Given the description of an element on the screen output the (x, y) to click on. 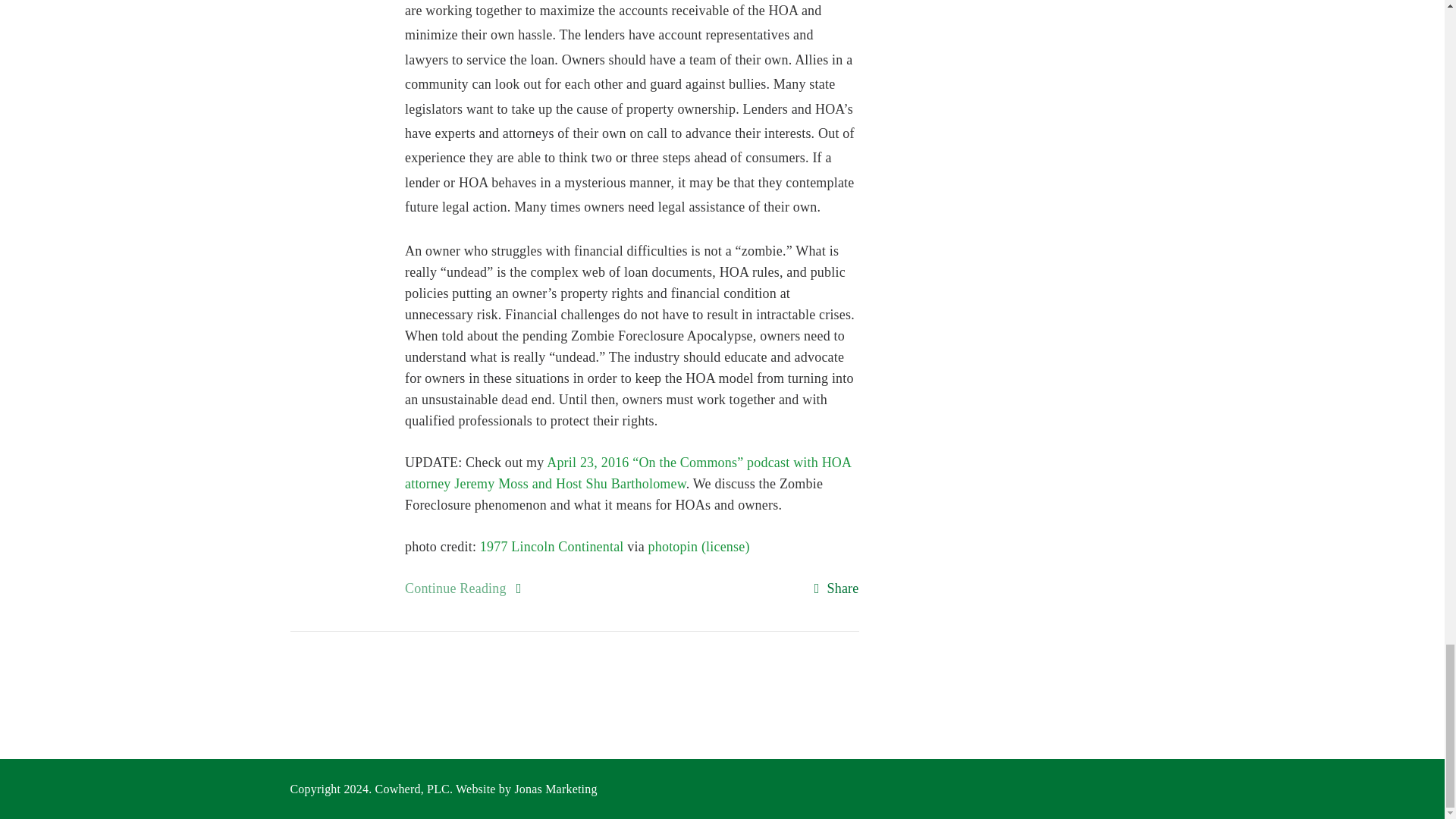
Continue Reading (455, 588)
photopin (672, 546)
1977 Lincoln Continental (552, 546)
